Given the description of an element on the screen output the (x, y) to click on. 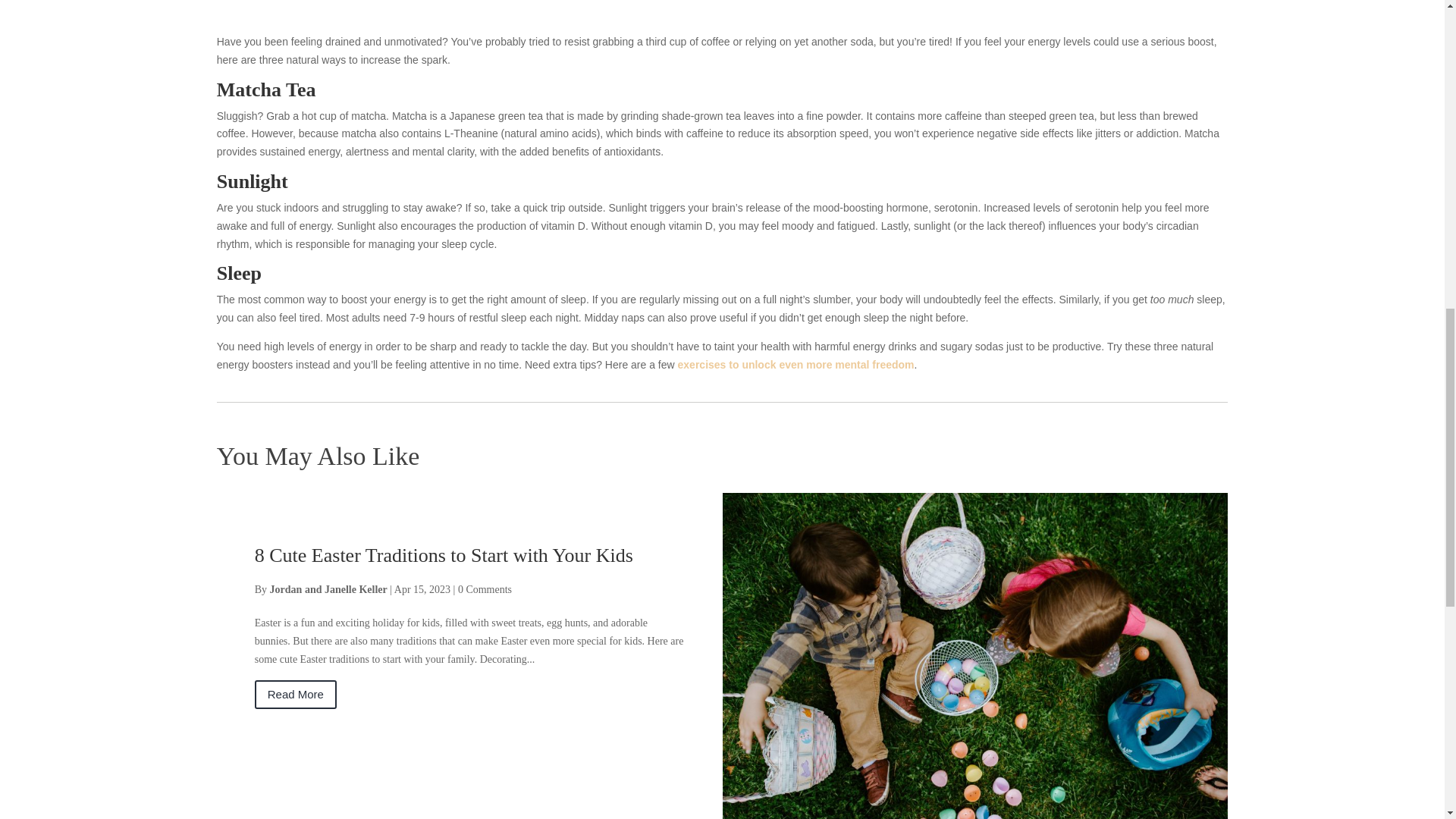
Posts by Jordan and Janelle Keller (328, 589)
8 Cute Easter Traditions to Start with Your Kids (443, 555)
Jordan and Janelle Keller (328, 589)
exercises to unlock even more mental freedom (796, 364)
Read More (295, 695)
